Given the description of an element on the screen output the (x, y) to click on. 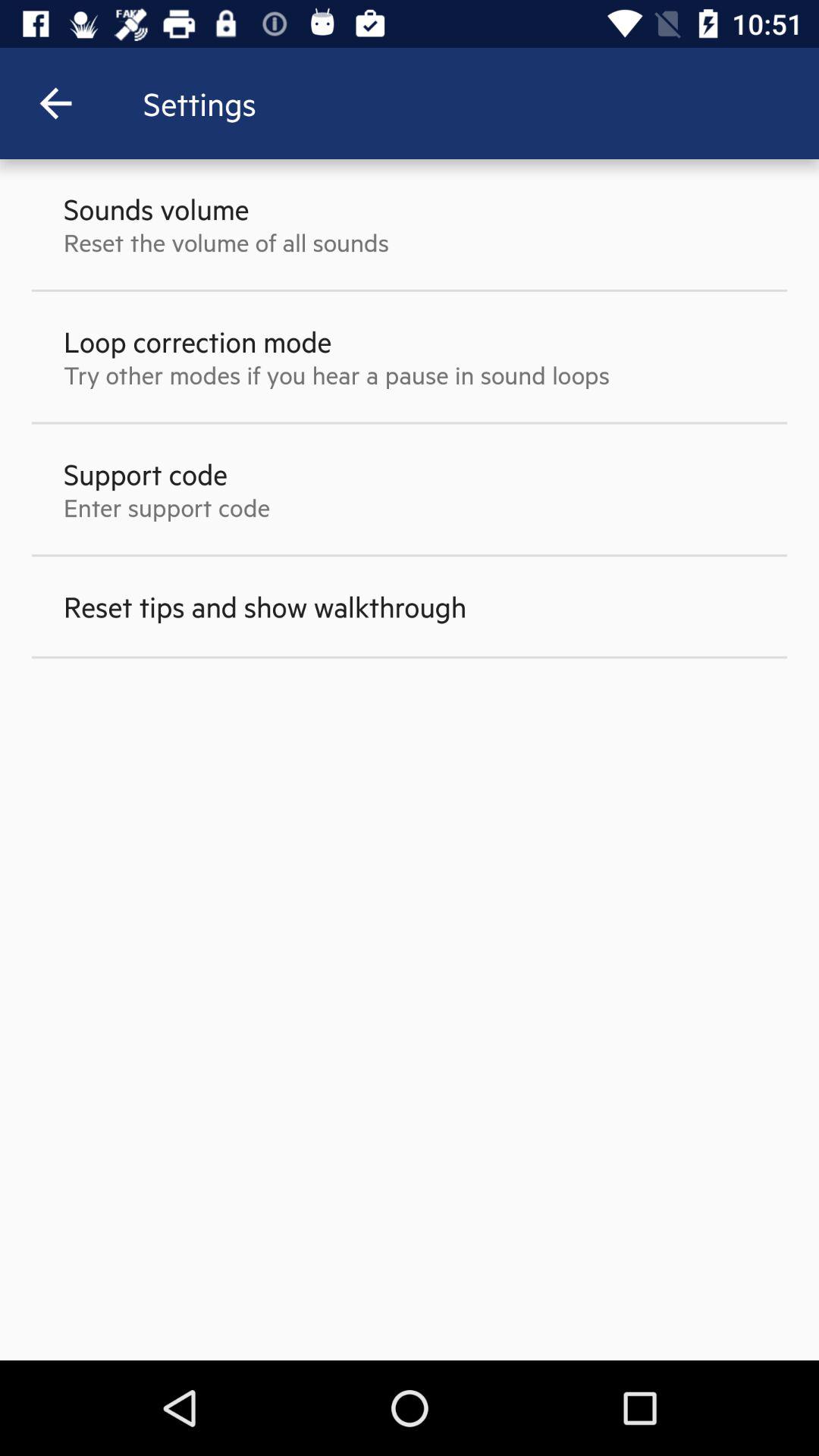
tap icon above the loop correction mode item (226, 241)
